Given the description of an element on the screen output the (x, y) to click on. 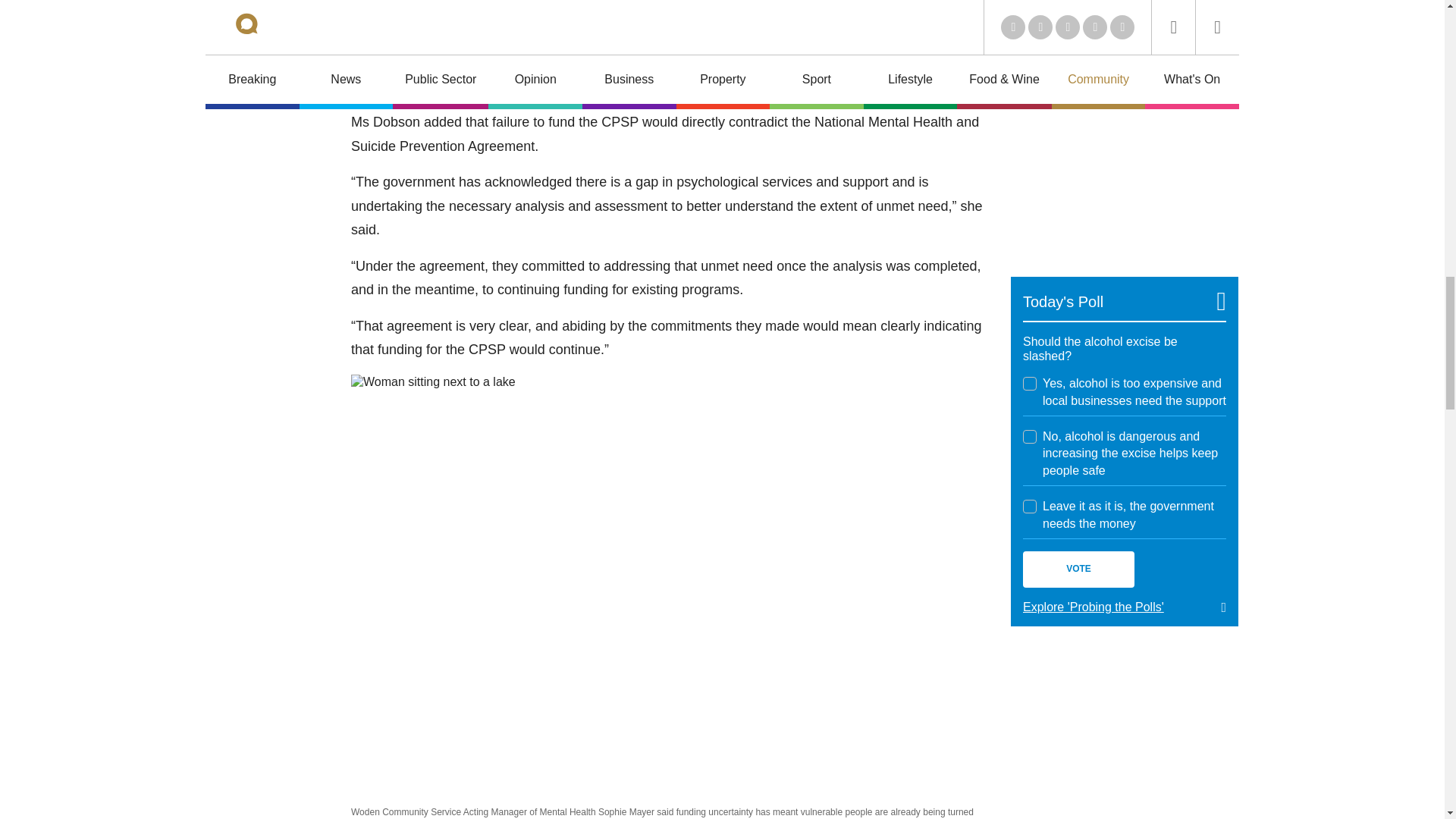
2047 (1029, 436)
Zango (1204, 9)
2048 (1029, 506)
2046 (1029, 383)
Zango Sales (1124, 157)
   Vote    (1078, 569)
